Given the description of an element on the screen output the (x, y) to click on. 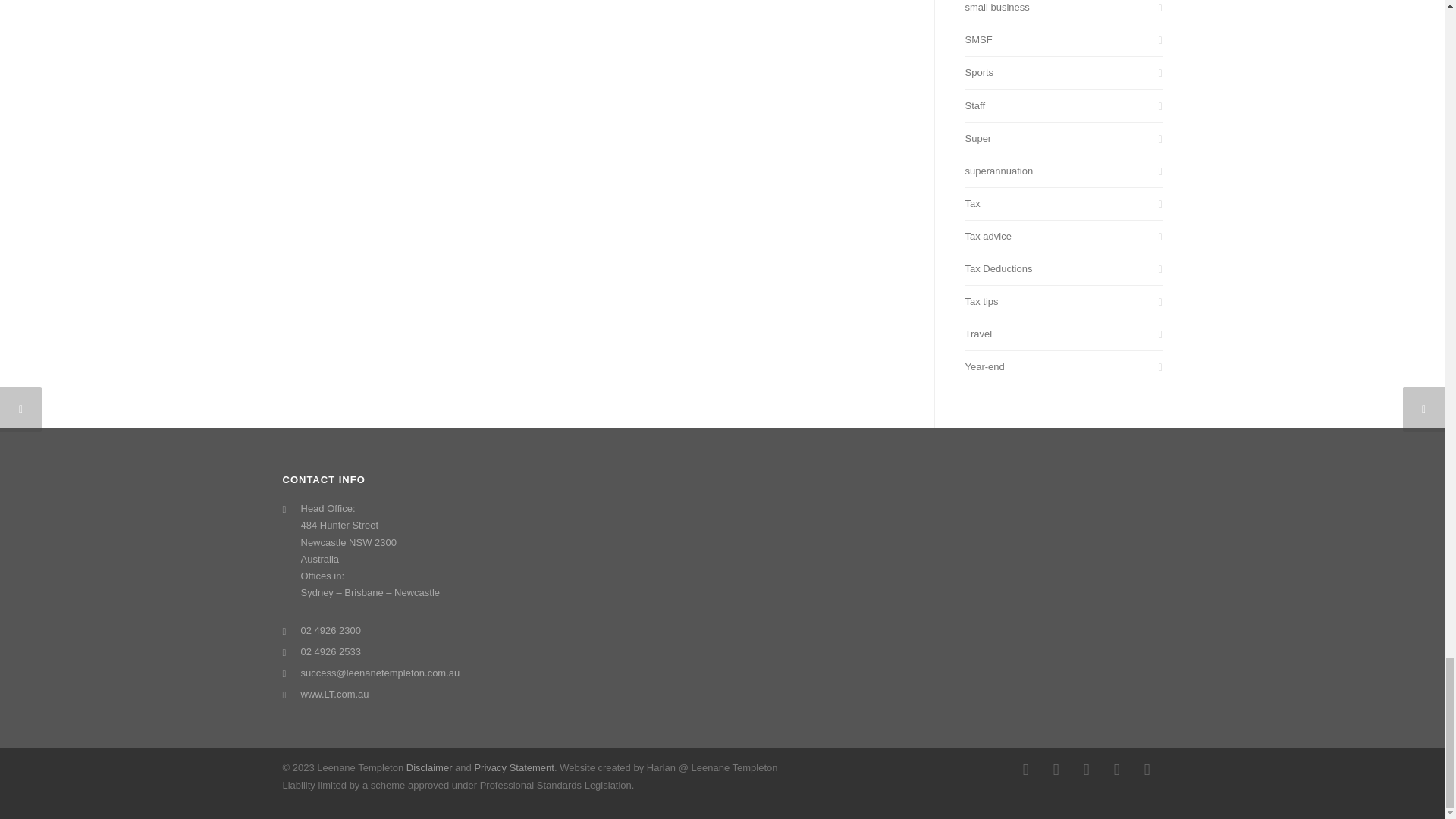
Twitter (1115, 769)
Facebook (1025, 769)
Instagram (1055, 769)
YouTube (1146, 769)
LinkedIn (1085, 769)
